Given the description of an element on the screen output the (x, y) to click on. 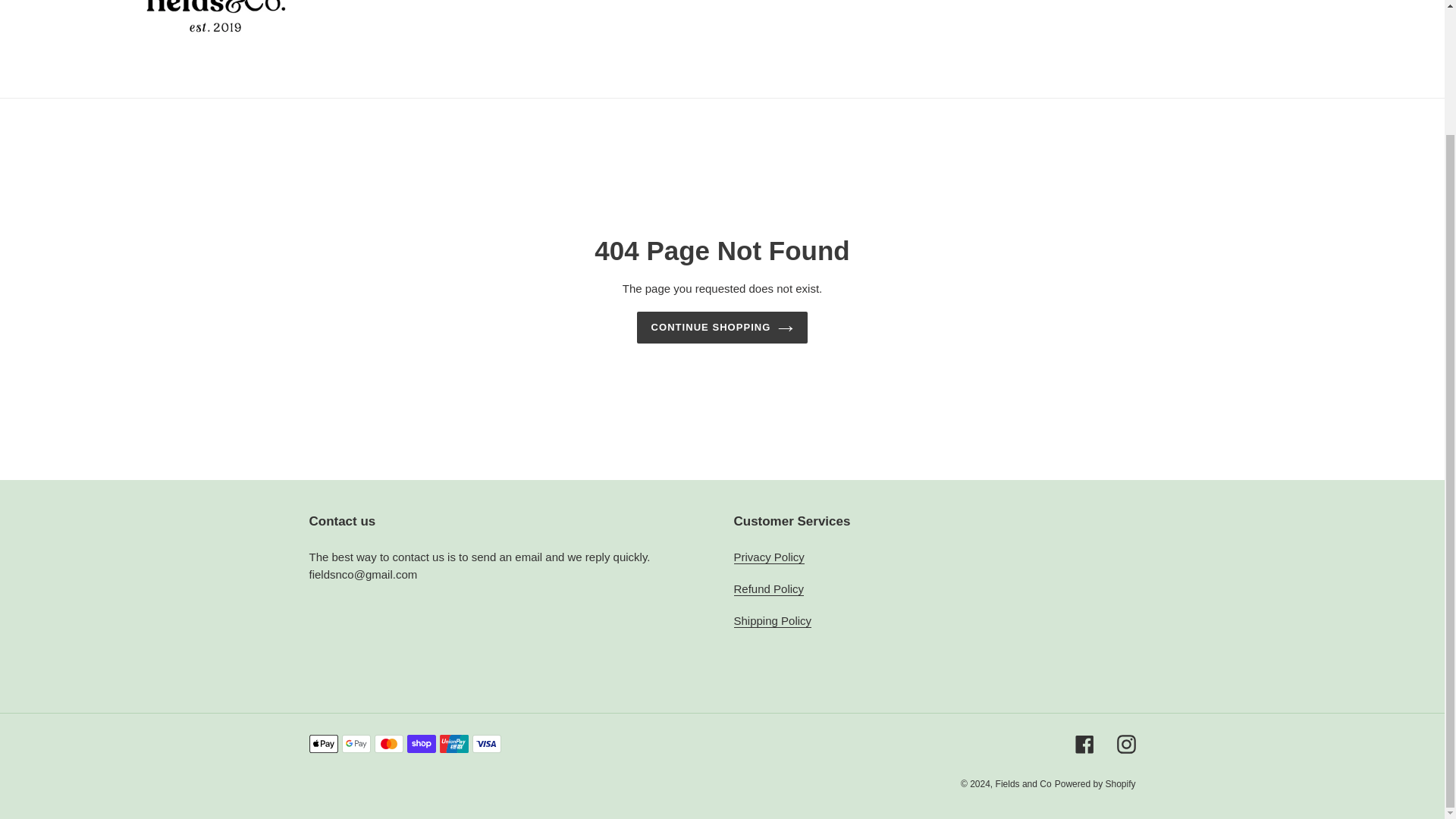
Instagram (1125, 743)
Home (534, 1)
Contact Us (718, 1)
Facebook (1084, 743)
Refund Policy (769, 589)
Log in (1355, 3)
Catalog (587, 1)
Refund Policy (769, 589)
Refund Policy (890, 1)
